Given the description of an element on the screen output the (x, y) to click on. 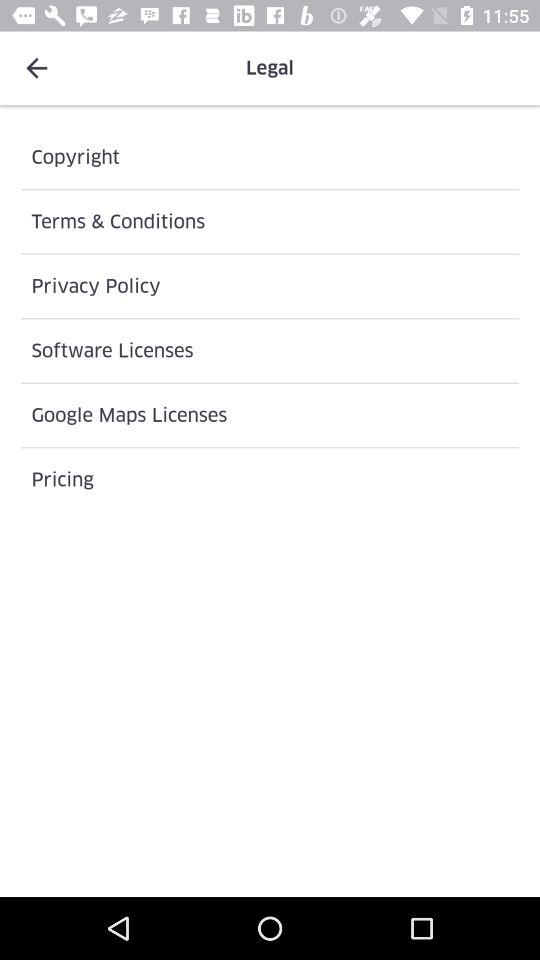
open icon below the google maps licenses (270, 479)
